Given the description of an element on the screen output the (x, y) to click on. 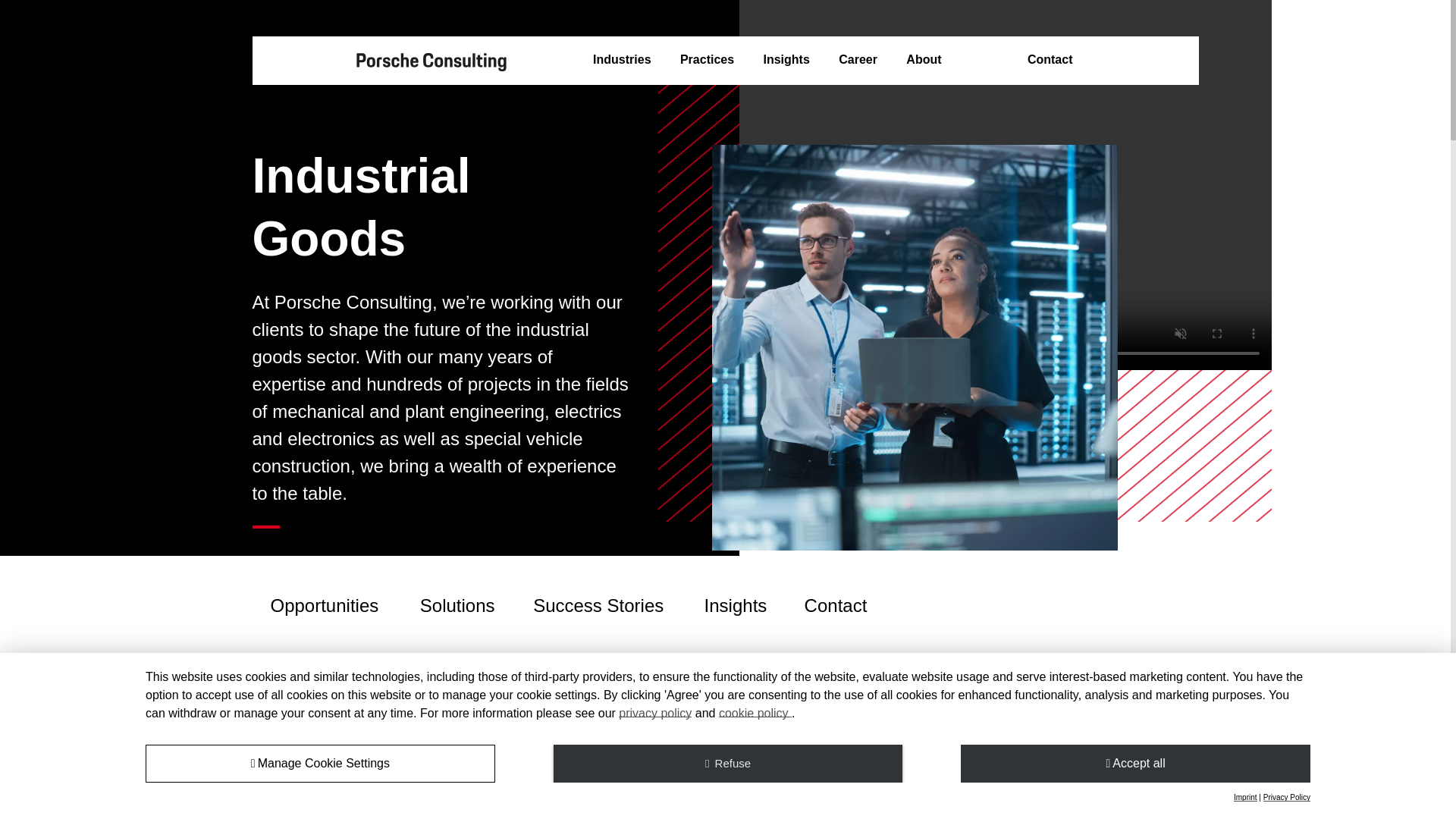
Practices (706, 60)
Industries (621, 60)
Career (857, 60)
About (922, 60)
Insights (785, 60)
Contact (1050, 60)
